Given the description of an element on the screen output the (x, y) to click on. 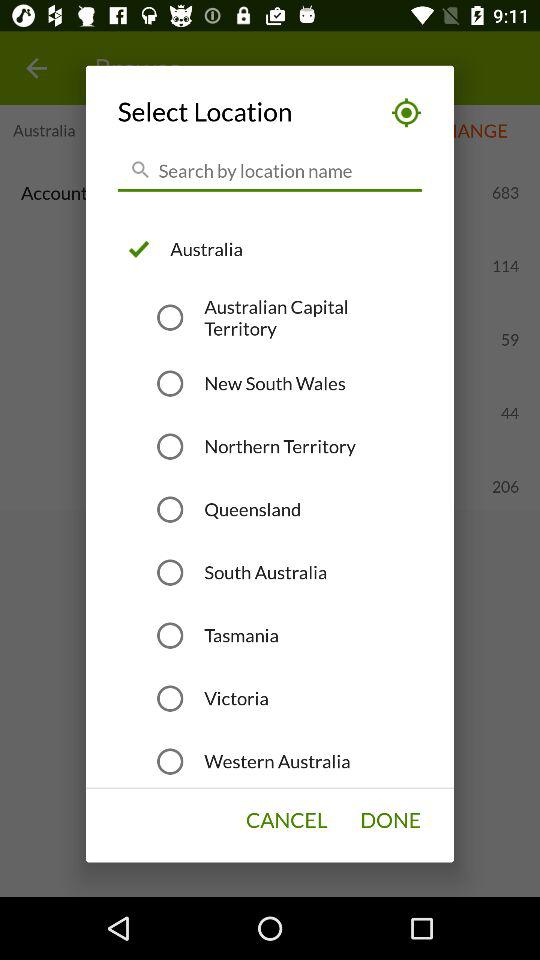
click south australia icon (265, 572)
